Given the description of an element on the screen output the (x, y) to click on. 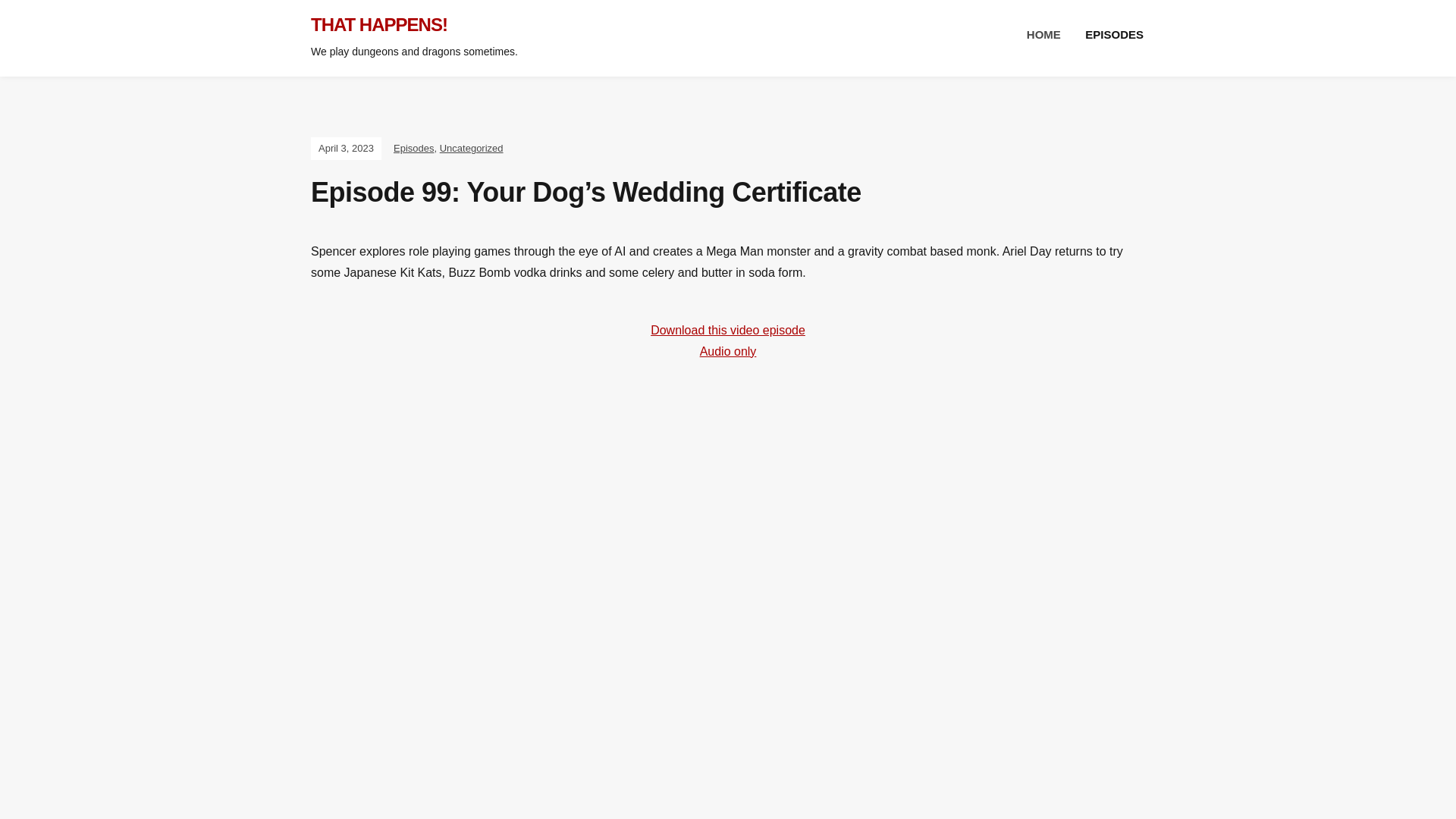
Uncategorized (471, 147)
HOME (1043, 34)
Download this video episode (727, 329)
EPISODES (1113, 34)
Download (727, 329)
Episodes (413, 147)
Download (728, 350)
Audio only (728, 350)
THAT HAPPENS! (378, 24)
